Given the description of an element on the screen output the (x, y) to click on. 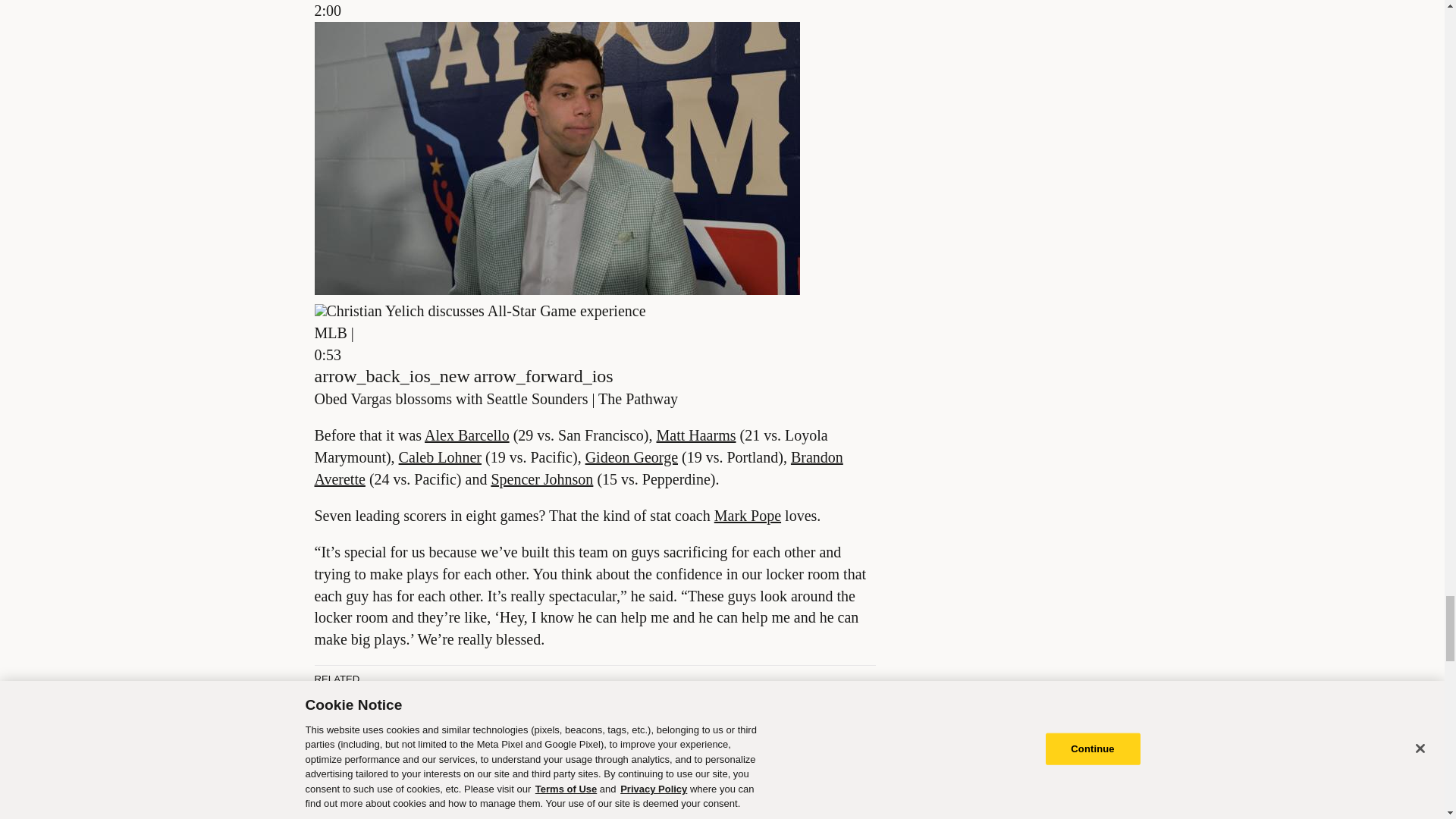
Mark Pope (747, 515)
Matt Haarms (696, 434)
Spencer Johnson (541, 478)
Gideon George (631, 457)
Caleb Lohner (439, 457)
Brandon Averette (578, 467)
Alex Barcello (467, 434)
